Given the description of an element on the screen output the (x, y) to click on. 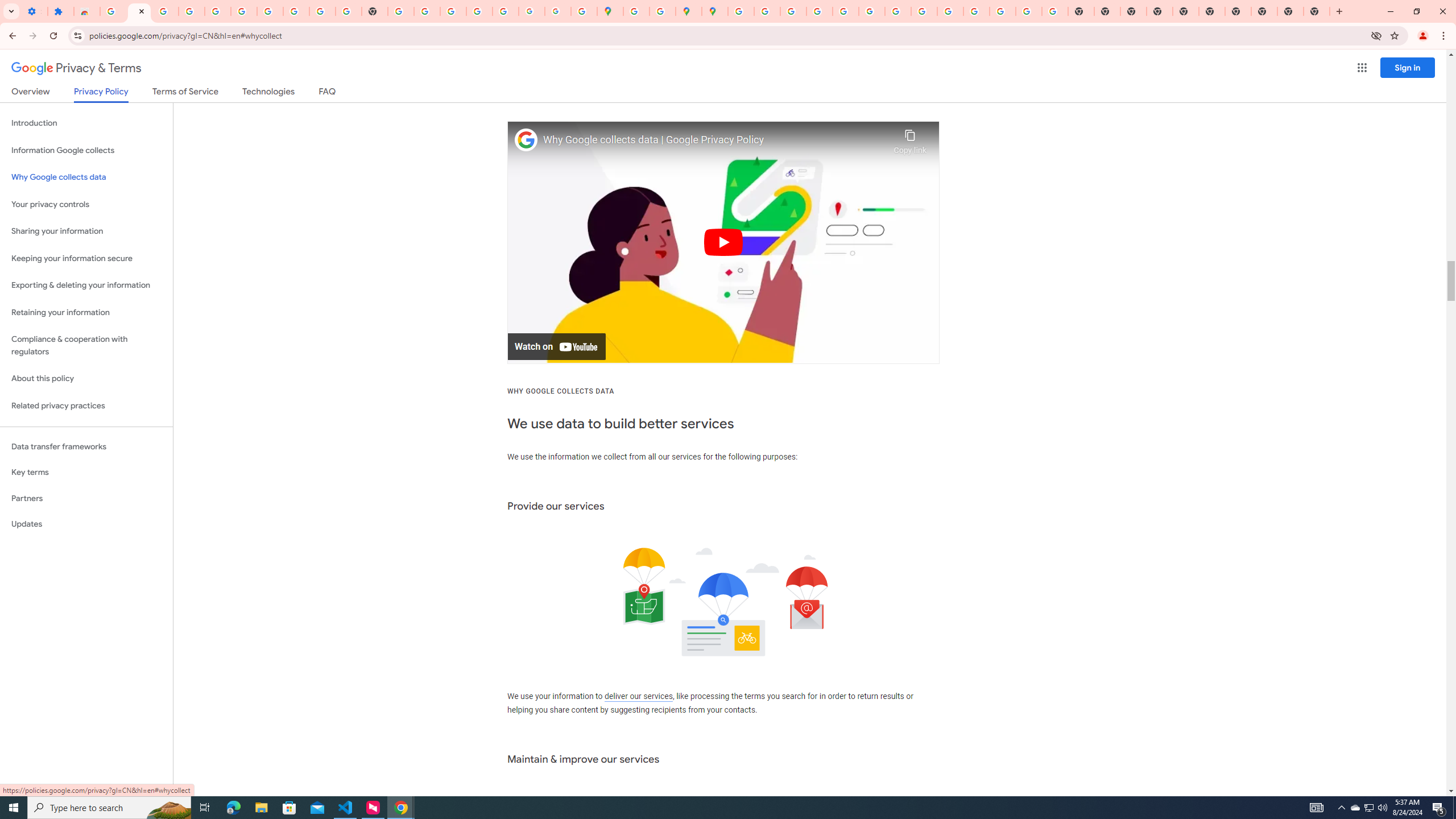
Google Images (1054, 11)
Settings - On startup (34, 11)
Compliance & cooperation with regulators (86, 345)
Key terms (86, 472)
Copy link (909, 139)
Related privacy practices (86, 405)
About this policy (86, 379)
Why Google collects data | Google Privacy Policy (715, 140)
New Tab (1316, 11)
